Given the description of an element on the screen output the (x, y) to click on. 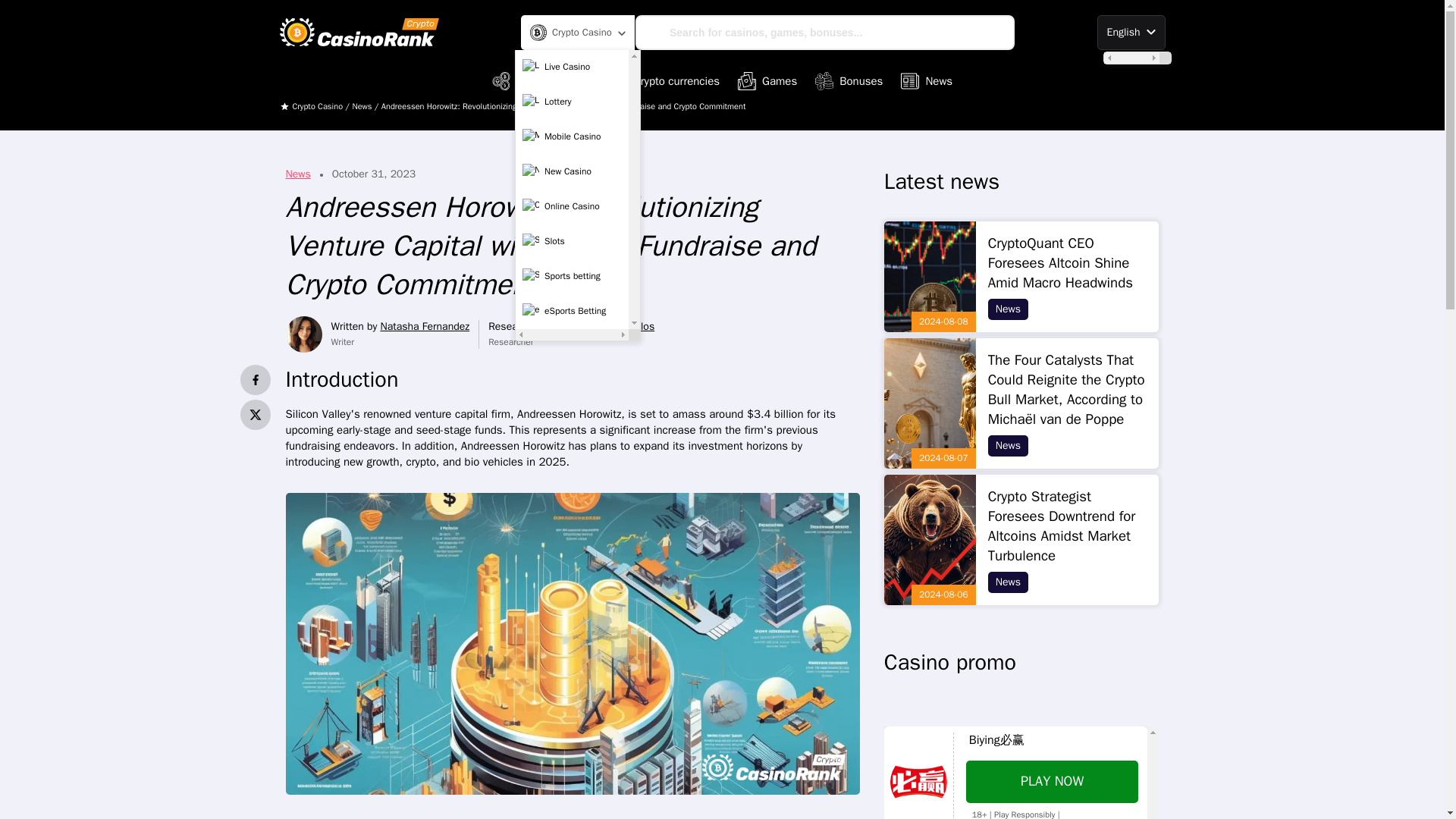
Crypto Casinos (541, 80)
Games (767, 80)
Online Casino (572, 206)
Slots (572, 241)
Lottery (572, 102)
New Casino (572, 172)
Live Casino (572, 67)
Sports betting (572, 276)
eSports Betting (572, 311)
Crypto currencies (665, 80)
